Given the description of an element on the screen output the (x, y) to click on. 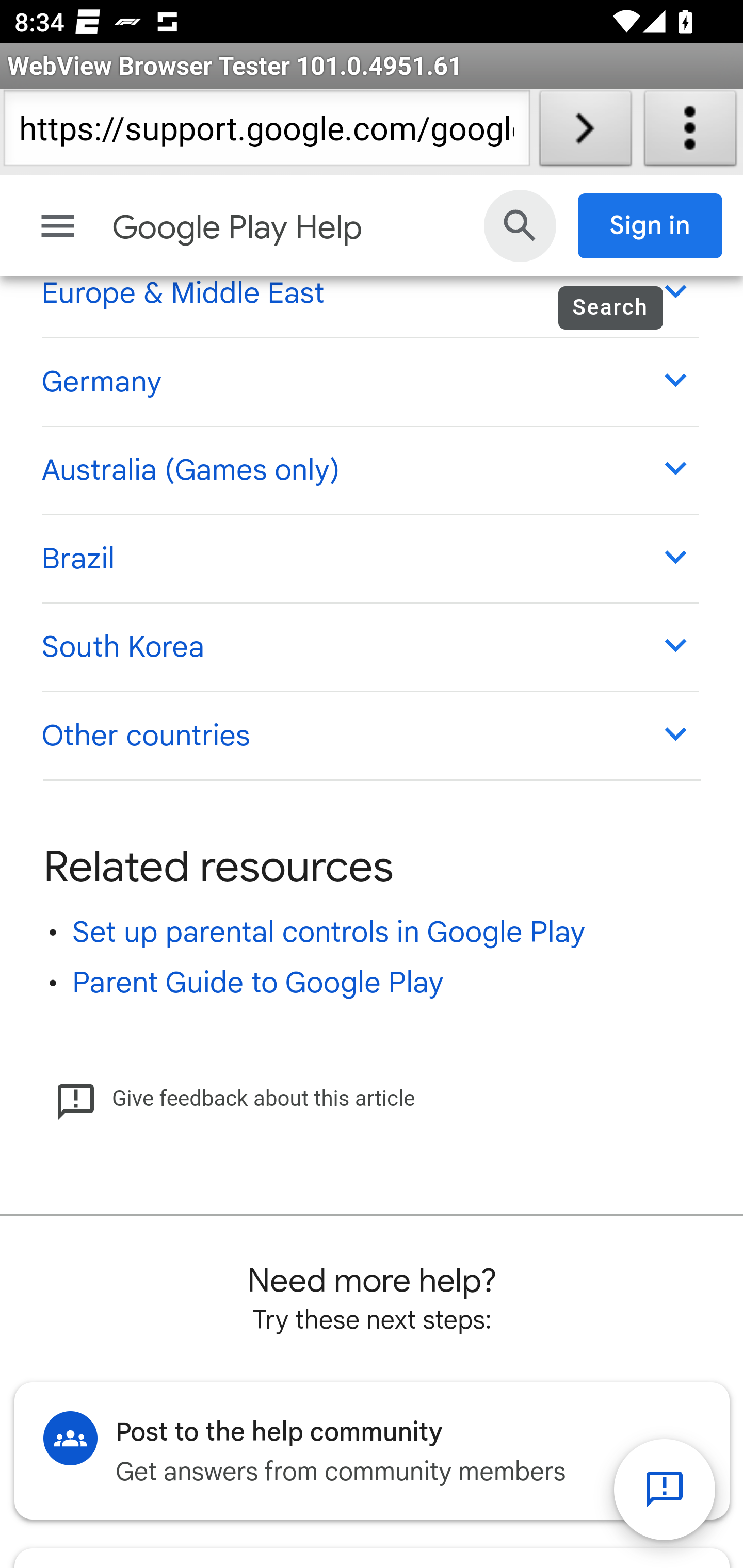
Load URL (585, 132)
About WebView (690, 132)
Main menu (58, 226)
Google Play Help (292, 227)
Search Help Center (519, 226)
Sign in (650, 226)
Europe & Middle East (369, 292)
Germany (369, 382)
Australia (Games only) (369, 469)
Brazil (369, 559)
South Korea (369, 646)
Other countries (369, 736)
Set up parental controls in Google Play (329, 933)
Parent Guide to Google Play (258, 983)
Give feedback about this article (235, 1099)
